Given the description of an element on the screen output the (x, y) to click on. 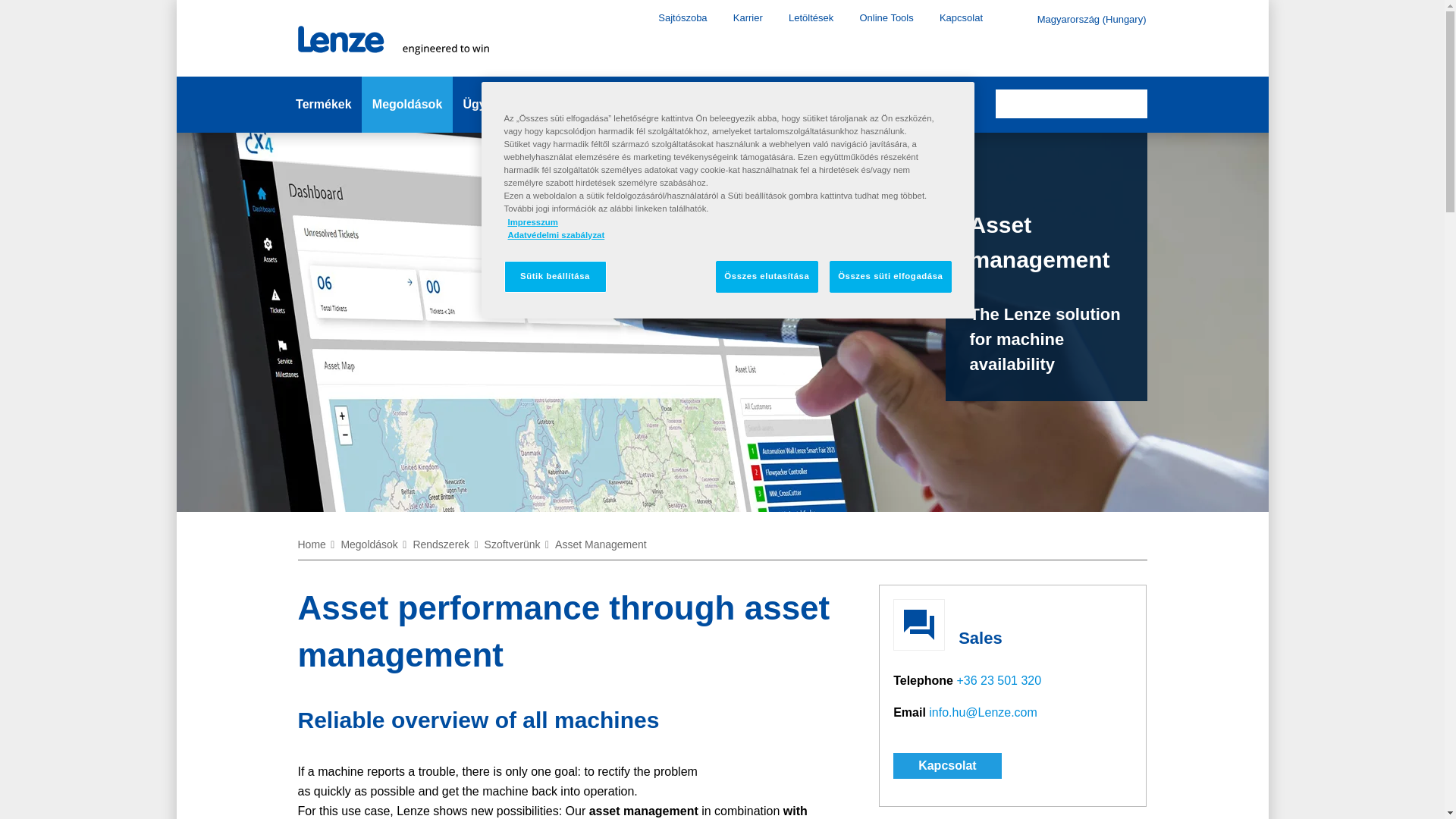
Karrier (748, 17)
Online Tools (885, 17)
Kapcsolat (960, 17)
